Given the description of an element on the screen output the (x, y) to click on. 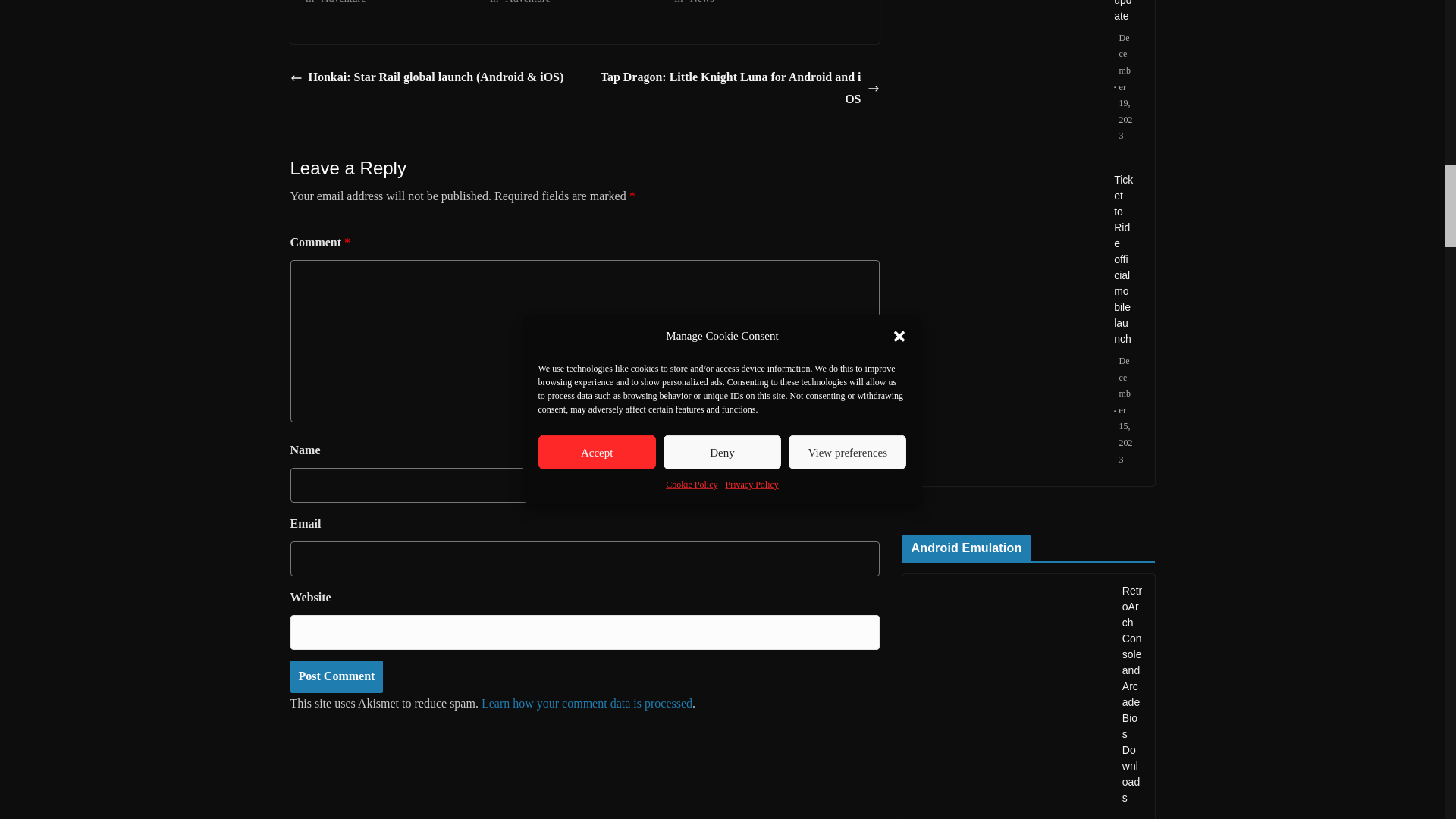
Post Comment (335, 676)
